Given the description of an element on the screen output the (x, y) to click on. 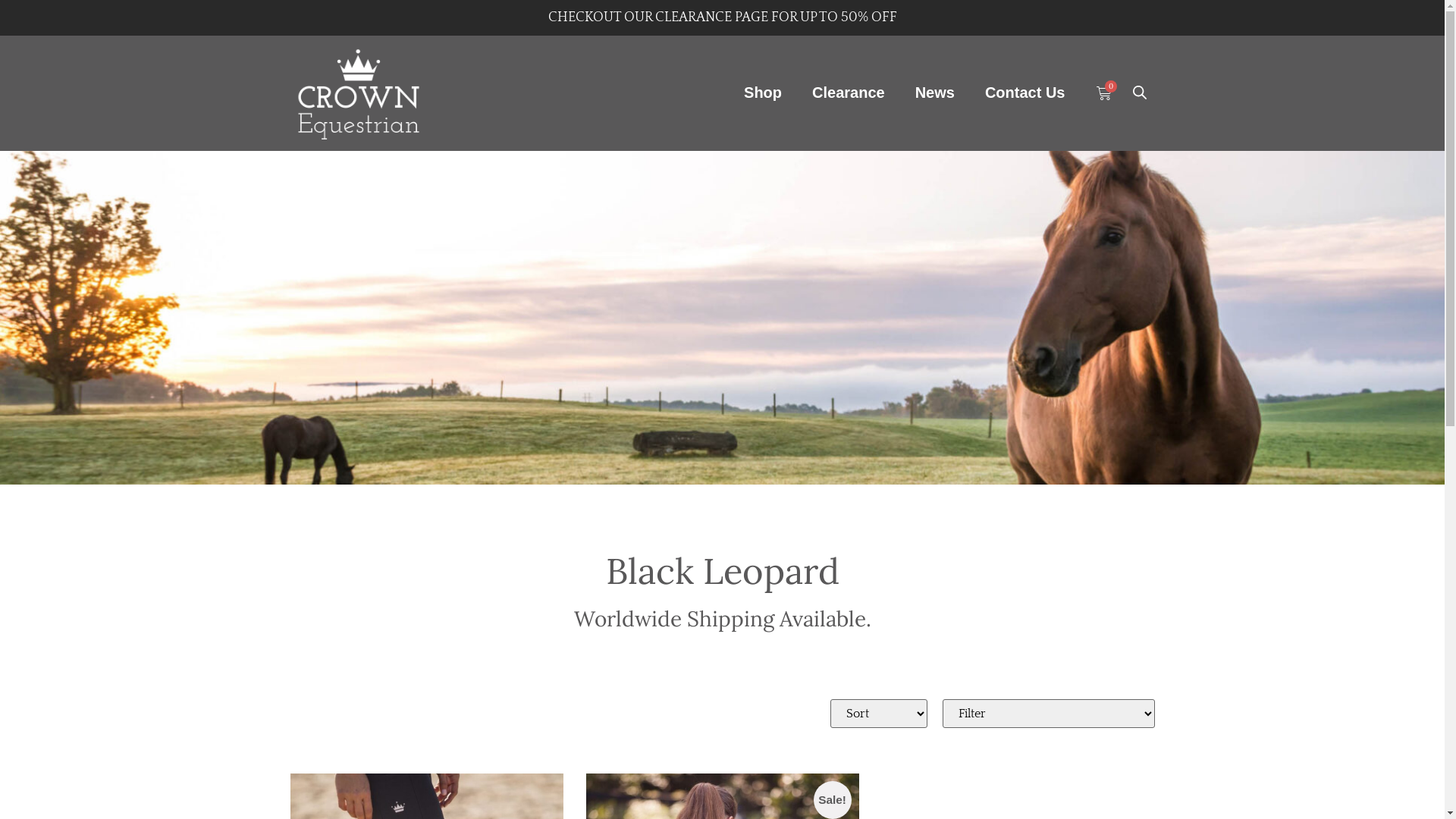
CLEARANCE PAGE Element type: text (711, 17)
Shop Element type: text (762, 92)
News Element type: text (934, 92)
Clearance Element type: text (848, 92)
0 Element type: text (1103, 92)
Contact Us Element type: text (1024, 92)
